Given the description of an element on the screen output the (x, y) to click on. 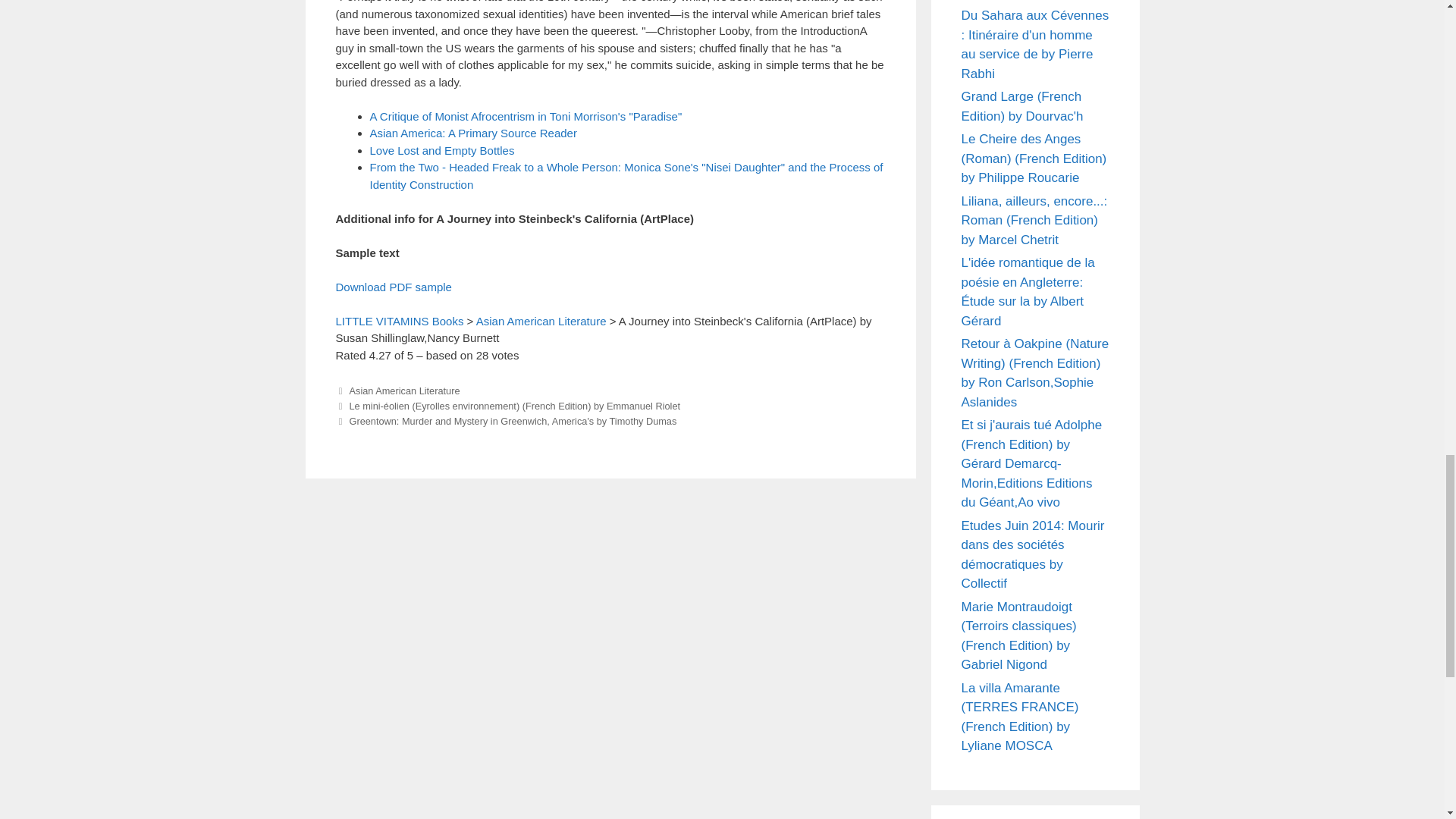
Previous (506, 405)
Asian American Literature (541, 319)
Asian American Literature (404, 390)
Asian America: A Primary Source Reader (472, 132)
Love Lost and Empty Bottles (442, 150)
Go to the Asian American Literature category archives. (541, 319)
Next (505, 420)
Go to LITTLE VITAMINS Books. (398, 319)
Download PDF sample (392, 286)
LITTLE VITAMINS Books (398, 319)
